Given the description of an element on the screen output the (x, y) to click on. 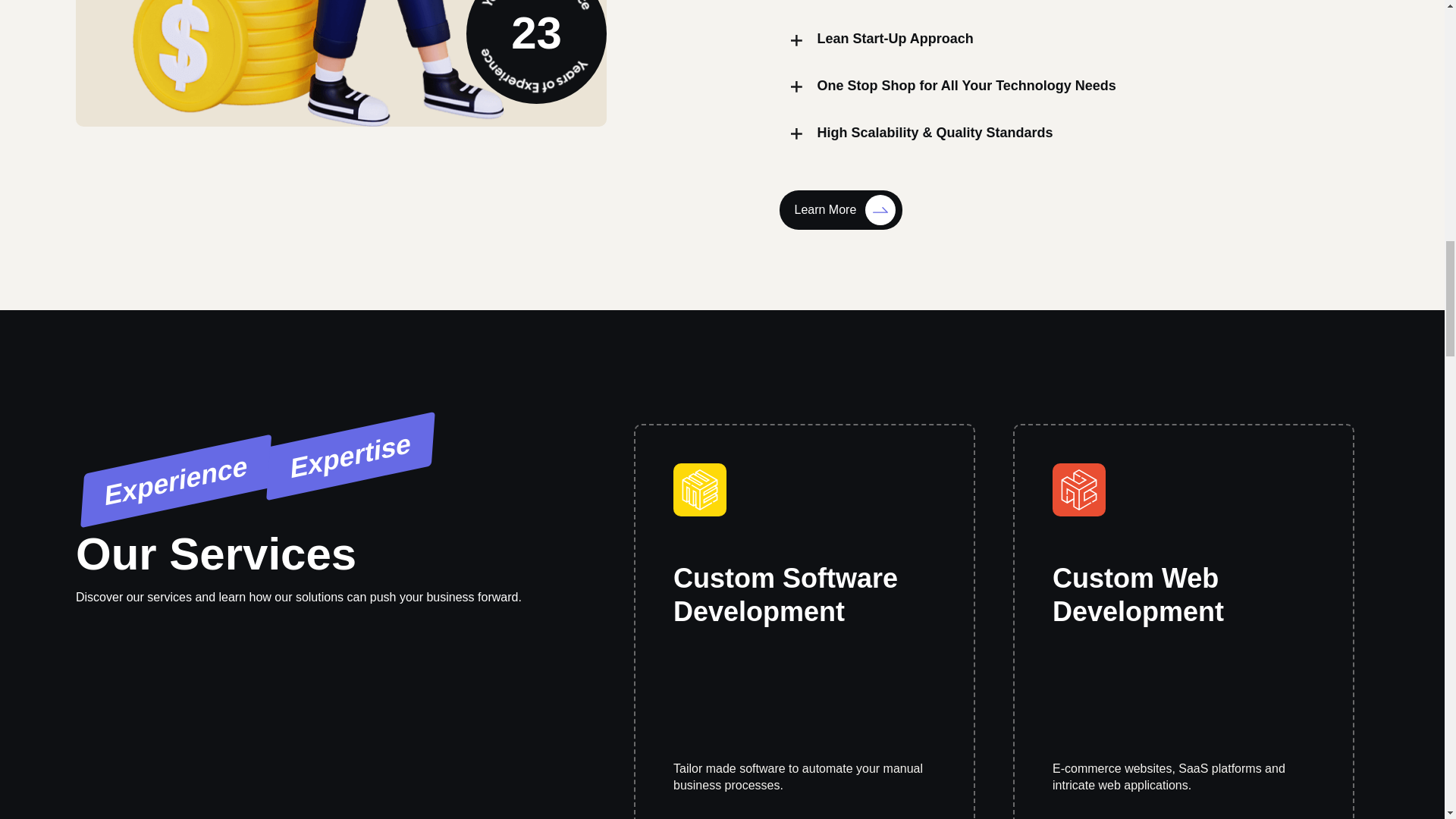
Learn More (840, 210)
